Given the description of an element on the screen output the (x, y) to click on. 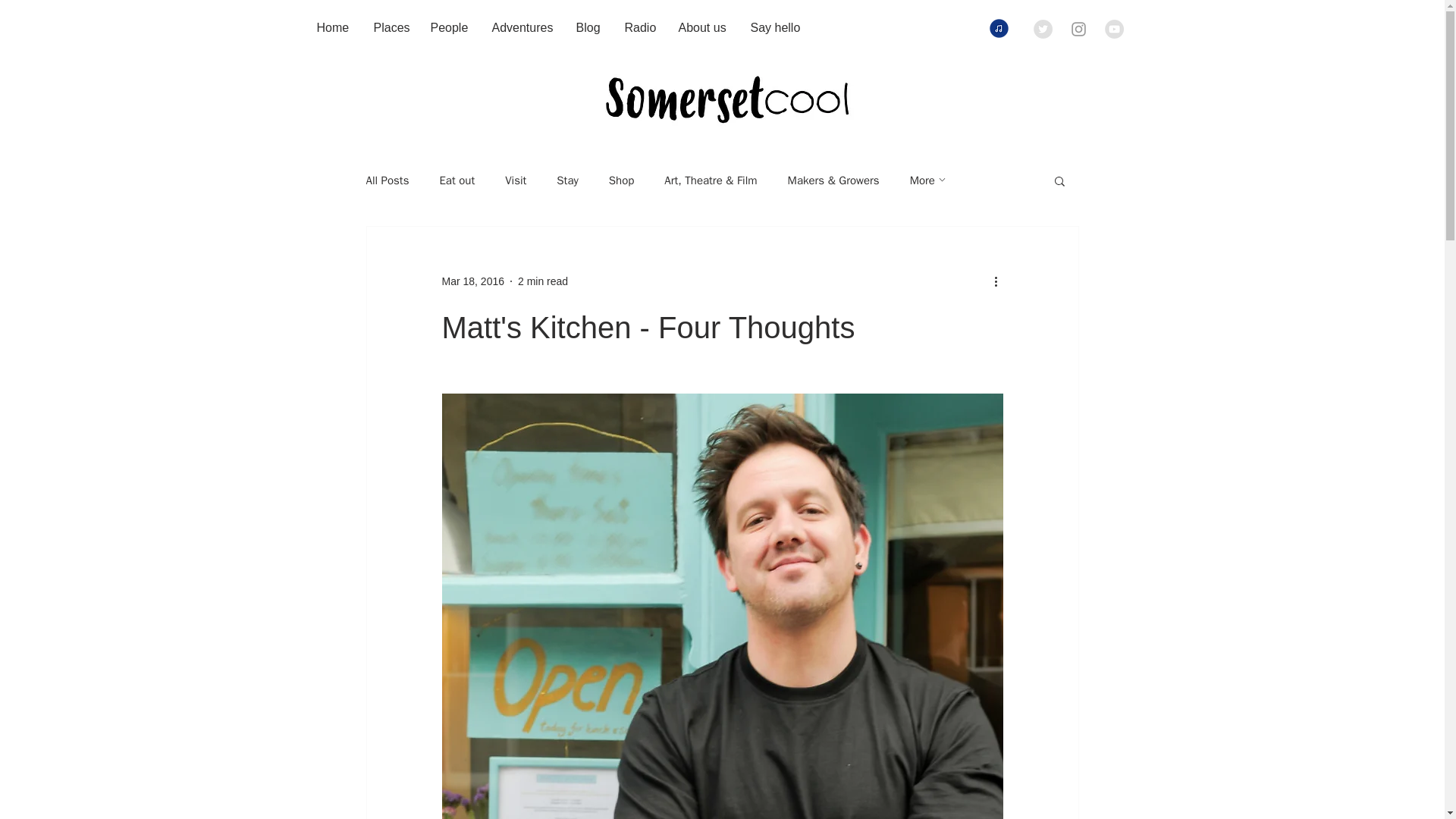
Eat out (456, 179)
Say hello (773, 27)
Somerset cool (727, 97)
Places (390, 27)
All Posts (387, 179)
Adventures (522, 27)
Mar 18, 2016 (472, 280)
Radio (639, 27)
Stay (567, 179)
About us (702, 27)
